Given the description of an element on the screen output the (x, y) to click on. 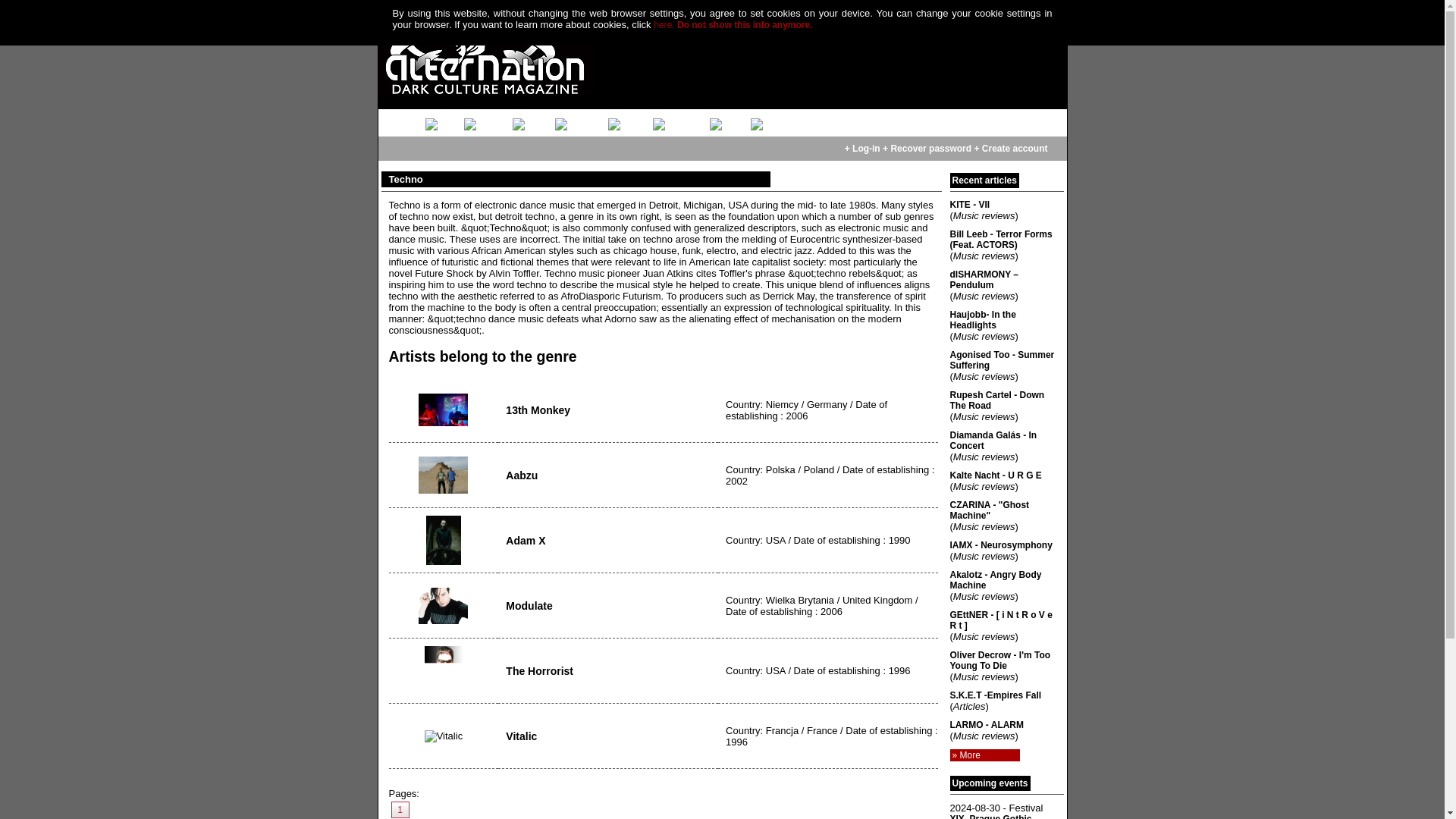
13th Monkey (443, 409)
News (461, 120)
Articles (505, 120)
Galleries (599, 120)
Bands (550, 120)
Aabzu (443, 474)
Modulate (443, 606)
AlterNation (409, 120)
Vitalic (444, 736)
